Given the description of an element on the screen output the (x, y) to click on. 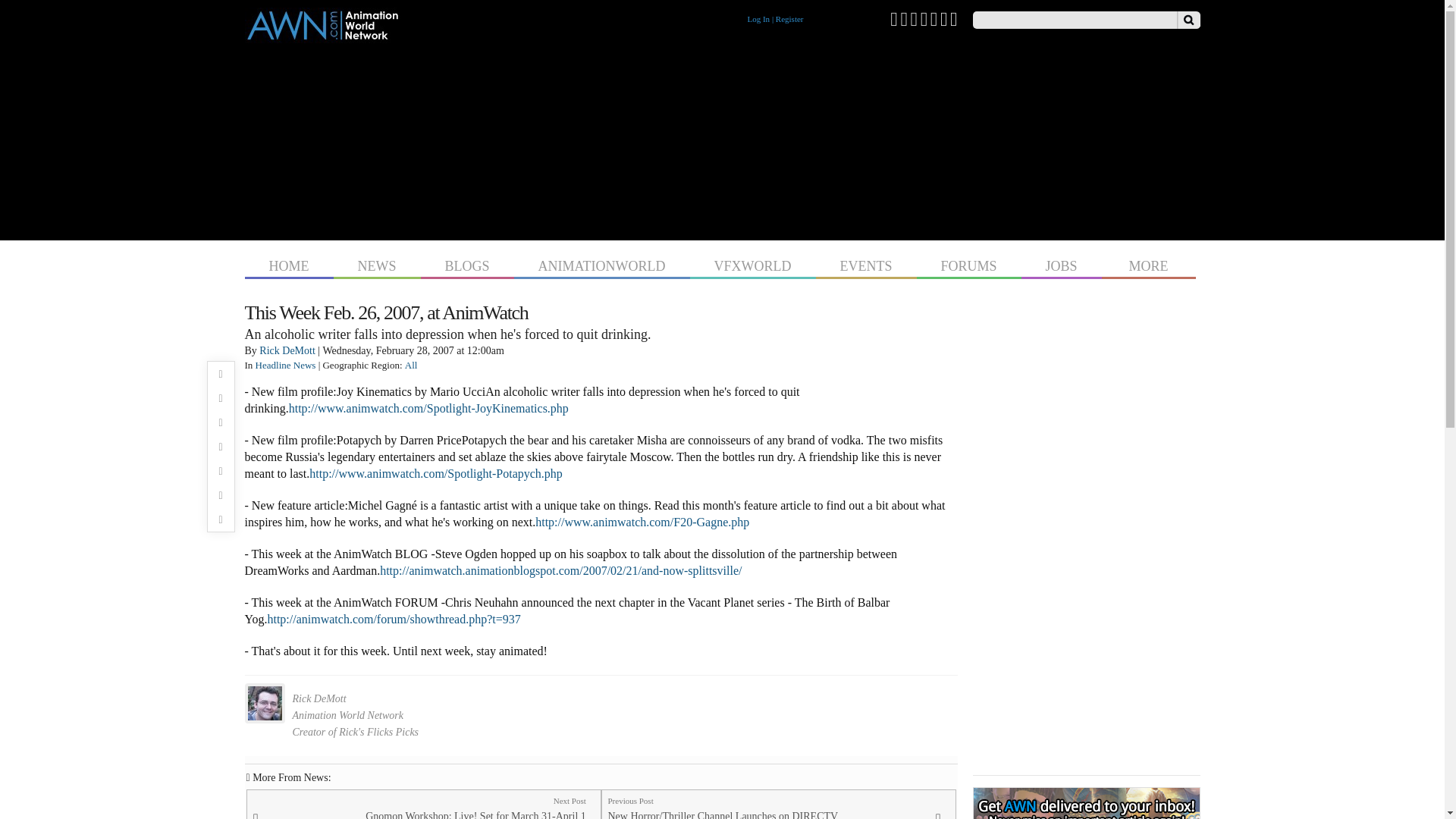
3rd party ad content (722, 137)
NEWS (376, 263)
Headline News (285, 365)
Animation World Network (321, 35)
MORE (1148, 263)
Log In (758, 18)
All (410, 365)
Search (1187, 19)
Rick DeMott (287, 350)
JOBS (1062, 263)
